Given the description of an element on the screen output the (x, y) to click on. 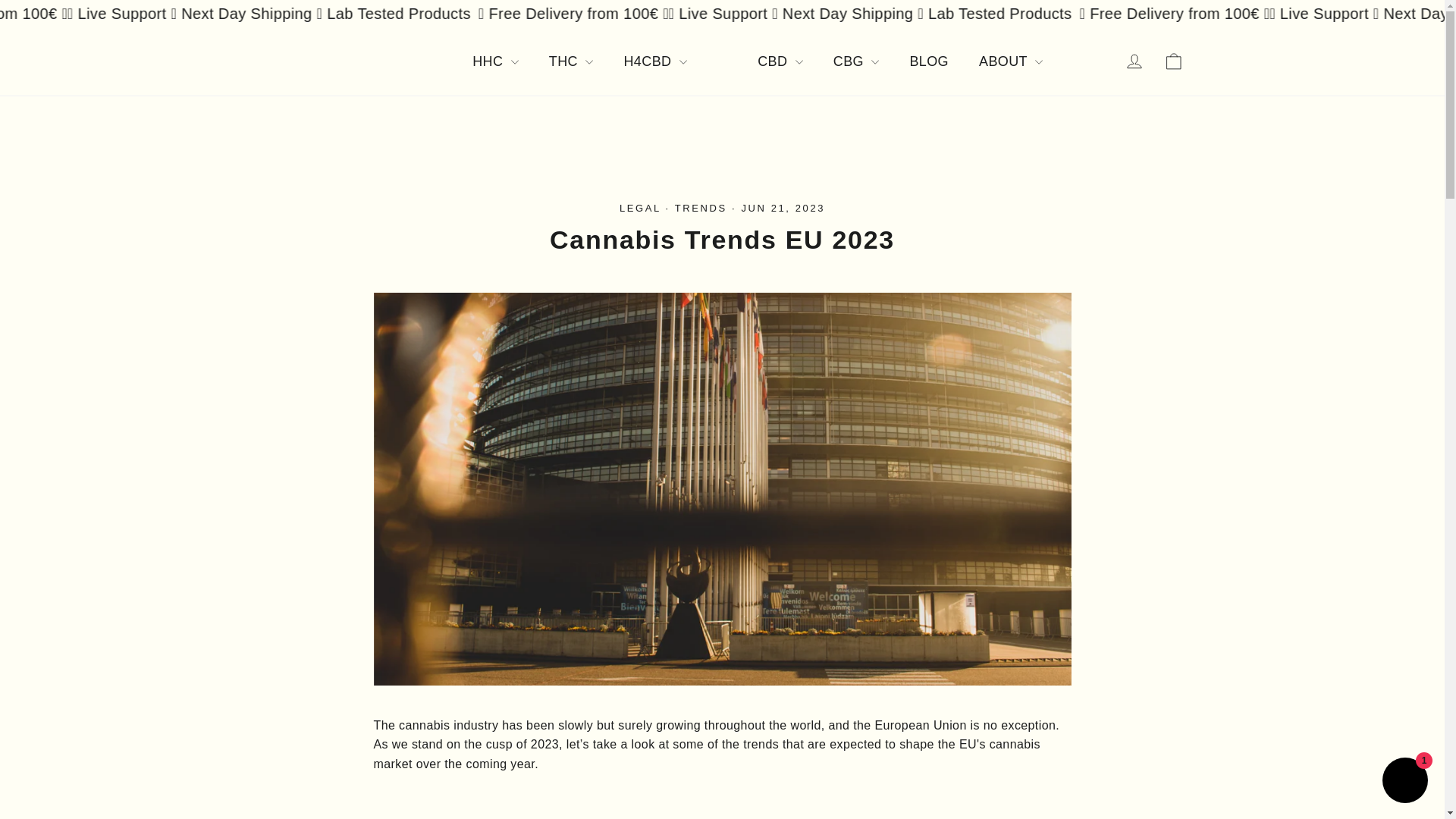
icon-bag-minimal (1174, 61)
Shopify online store chat (1404, 781)
account (1134, 61)
